Given the description of an element on the screen output the (x, y) to click on. 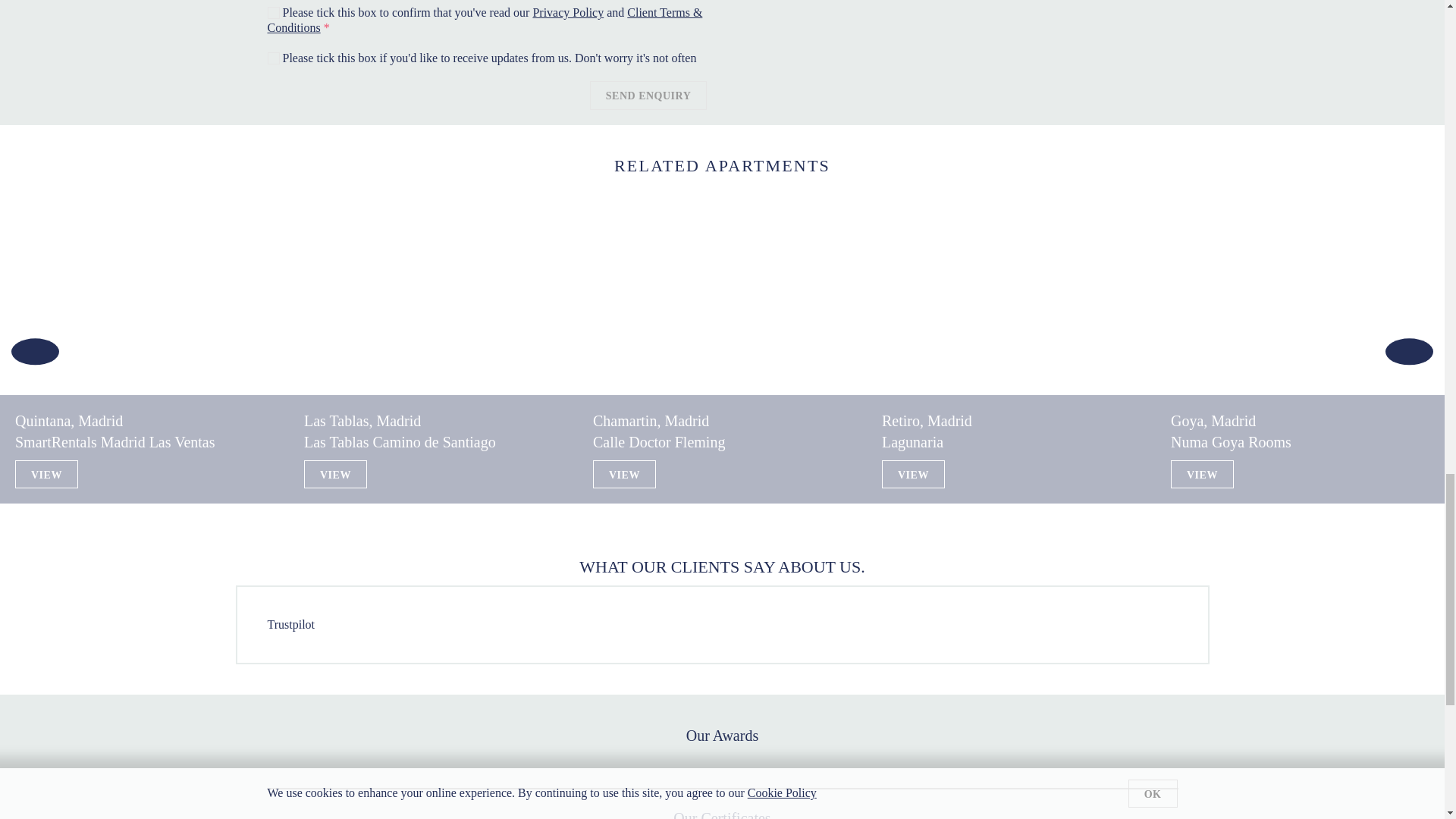
Send Enquiry (647, 95)
1 (272, 58)
1 (272, 12)
